Given the description of an element on the screen output the (x, y) to click on. 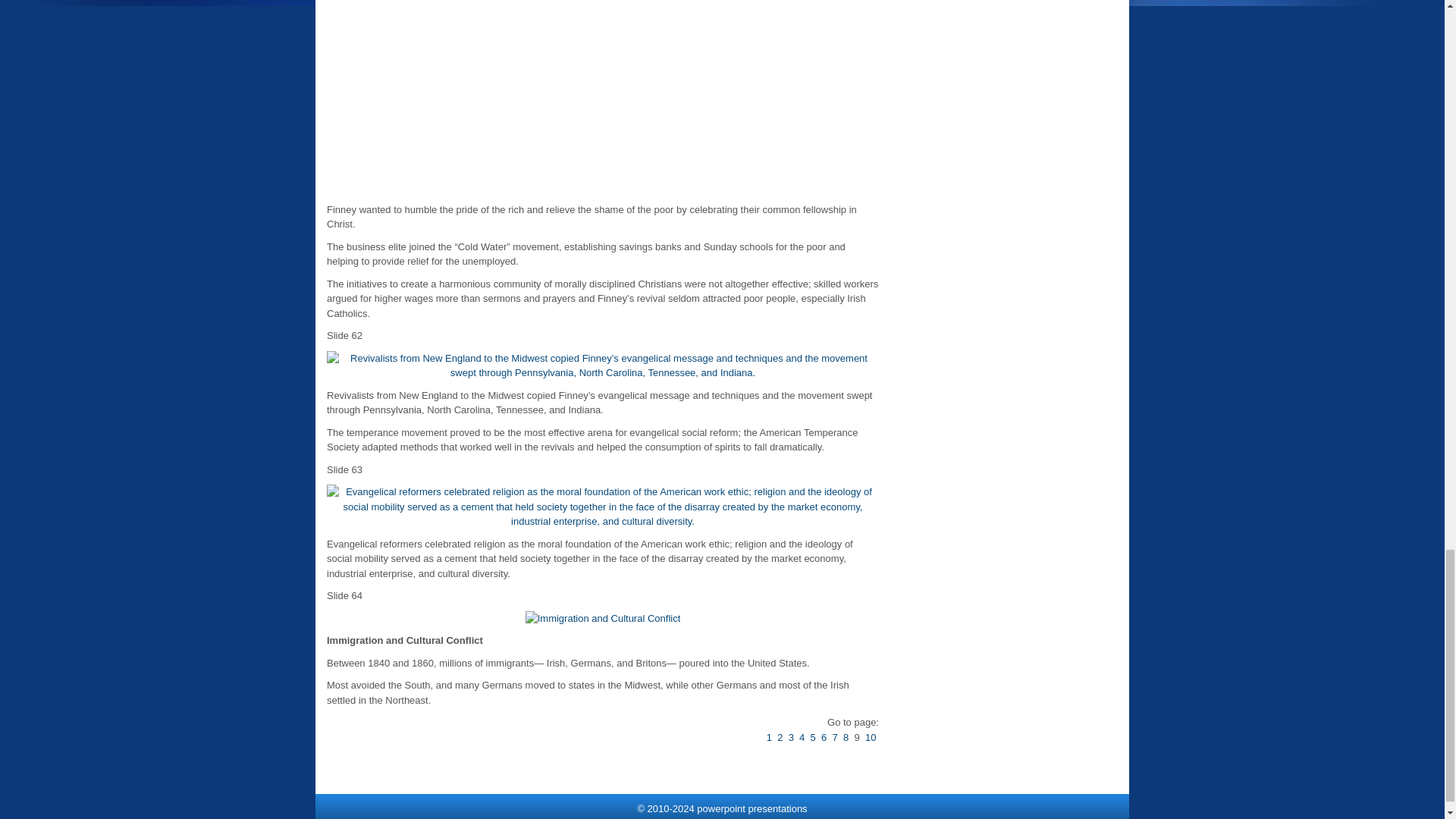
Immigration and Cultural Conflict (603, 618)
